Given the description of an element on the screen output the (x, y) to click on. 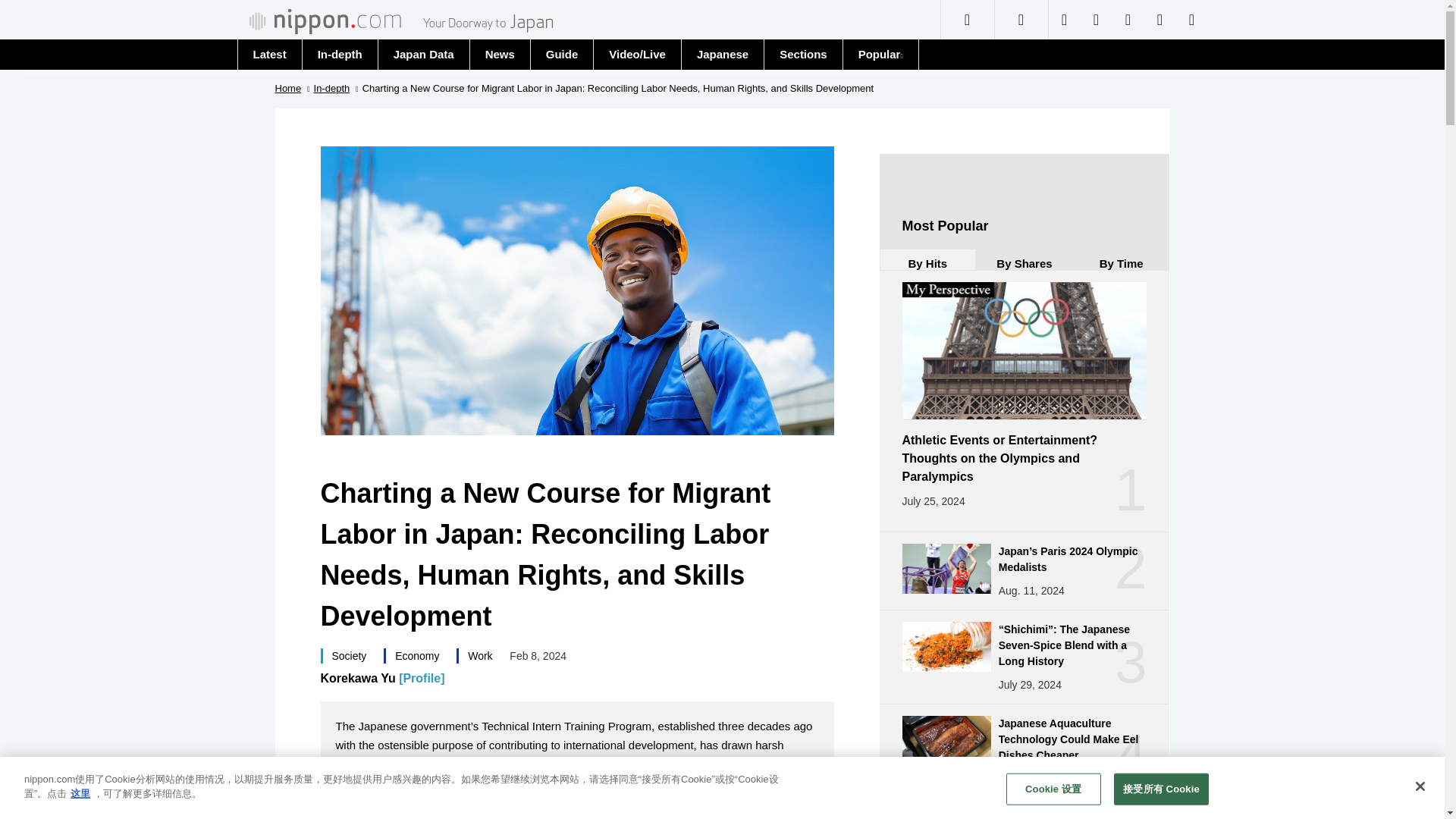
In-depth (339, 54)
News (499, 53)
Guide (560, 54)
Japanese (721, 54)
Latest (268, 54)
Japan Data (422, 54)
